Given the description of an element on the screen output the (x, y) to click on. 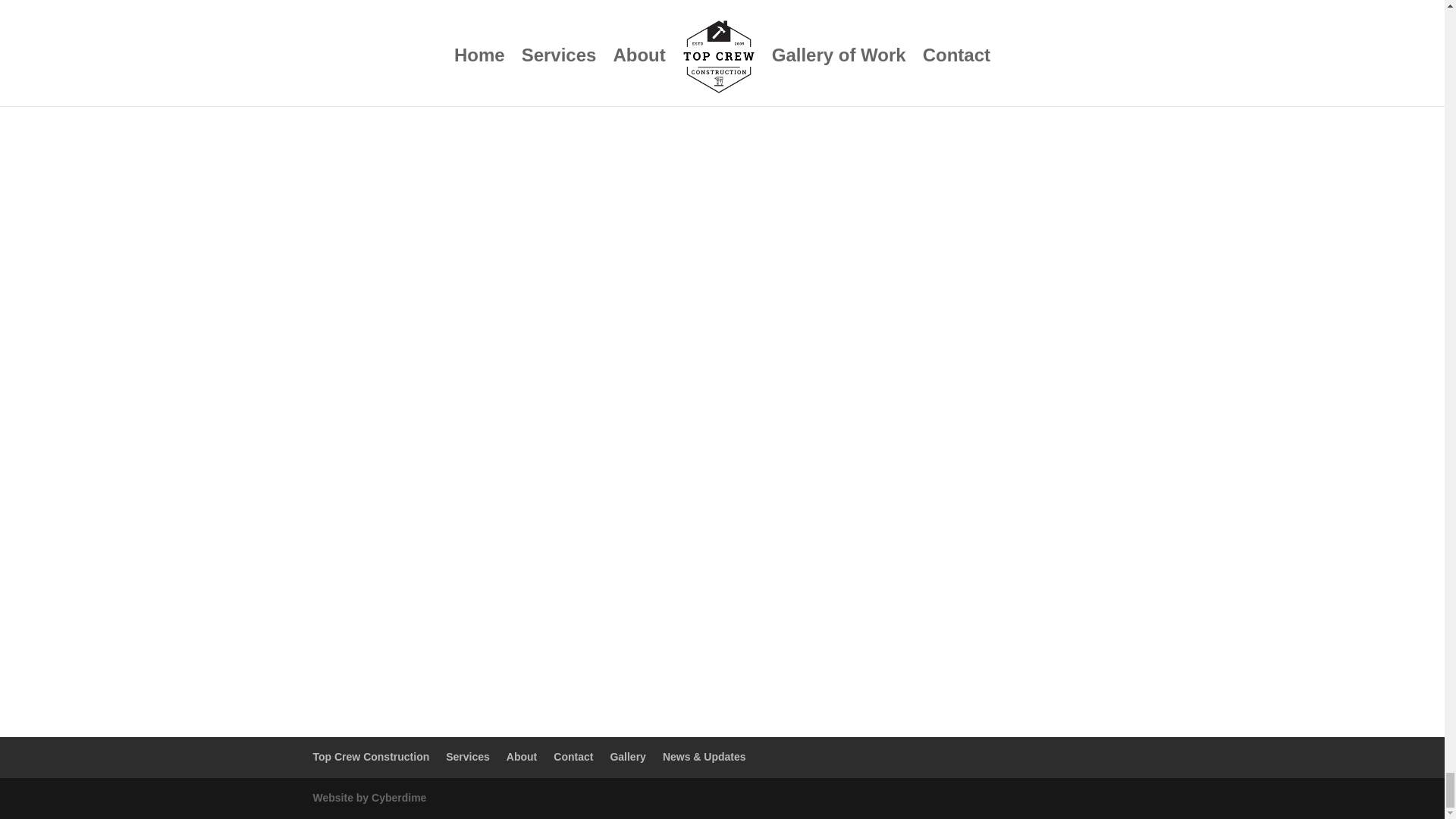
Services (467, 756)
Top Crew Construction (371, 756)
